Given the description of an element on the screen output the (x, y) to click on. 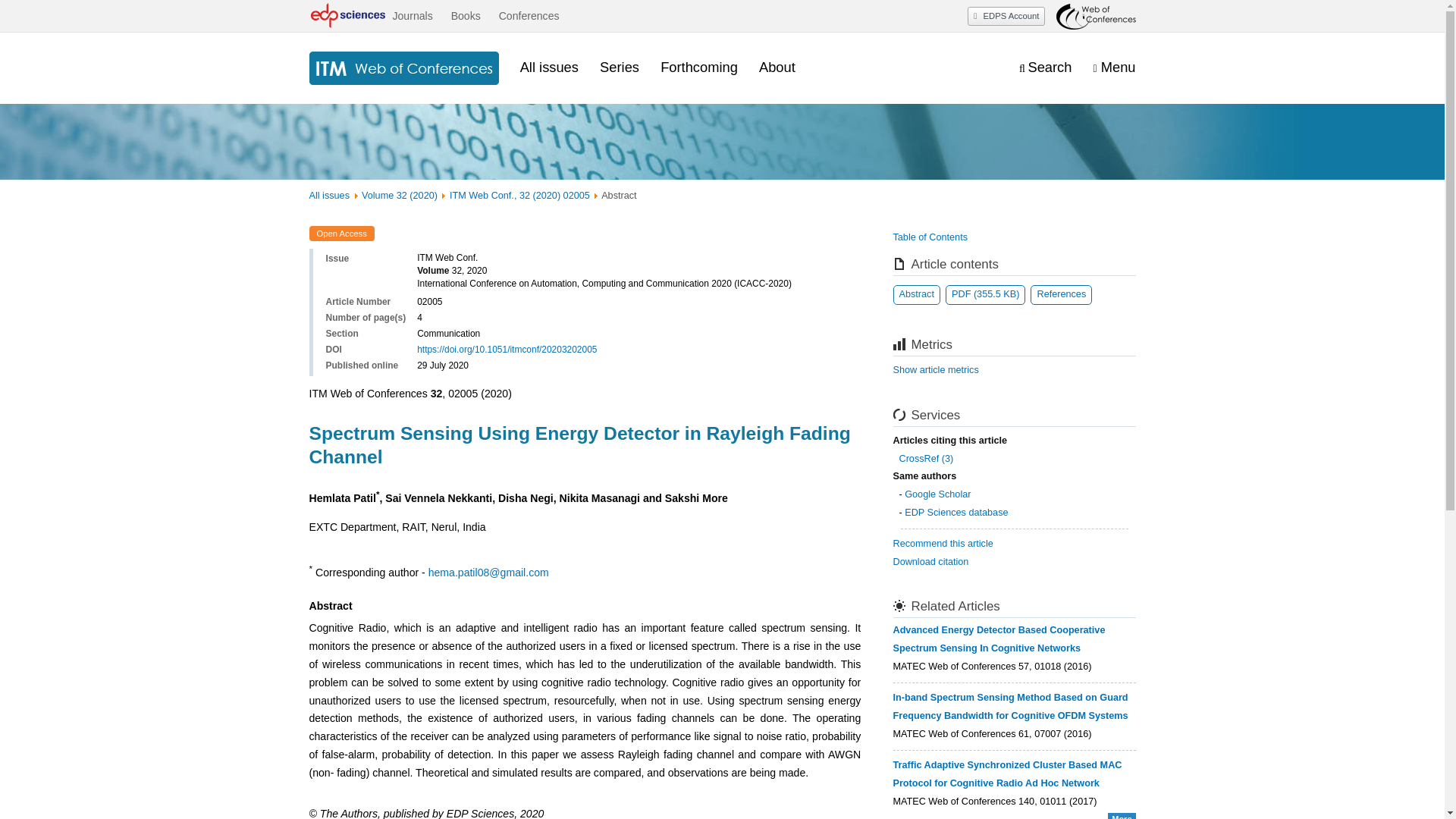
Conferences (529, 16)
All issues (328, 195)
All issues (548, 67)
Abstract (916, 294)
About (776, 67)
Series (619, 67)
Journals (411, 16)
Forthcoming (699, 67)
Display the search engine (1045, 67)
References (1061, 294)
